Given the description of an element on the screen output the (x, y) to click on. 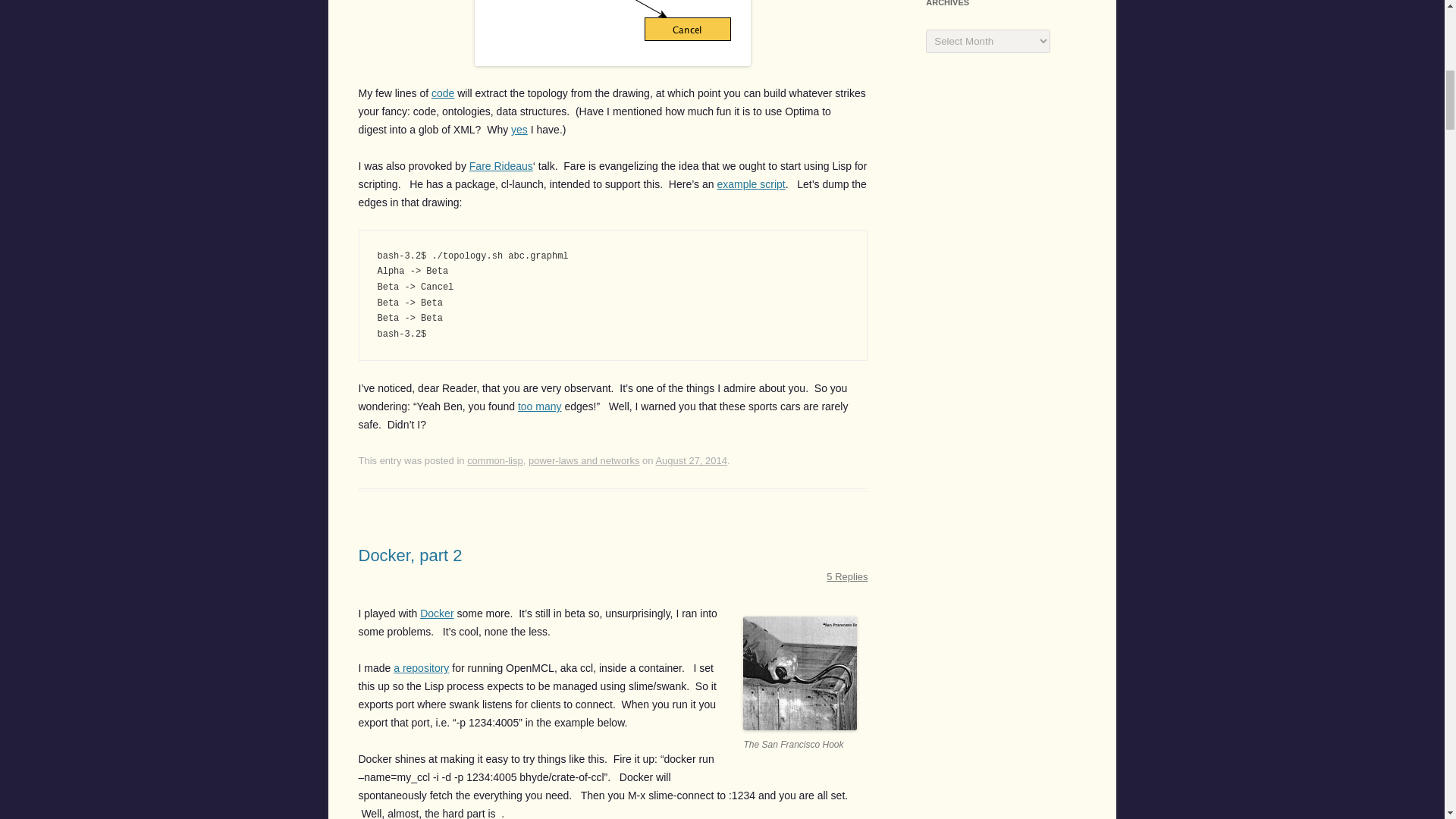
a repository (420, 667)
power-laws and networks (584, 460)
Docker, part 2 (409, 555)
code (442, 92)
Fare Rideaus (500, 165)
too many (540, 406)
5 Replies (847, 576)
example script (750, 184)
yes (519, 129)
common-lisp (494, 460)
